Given the description of an element on the screen output the (x, y) to click on. 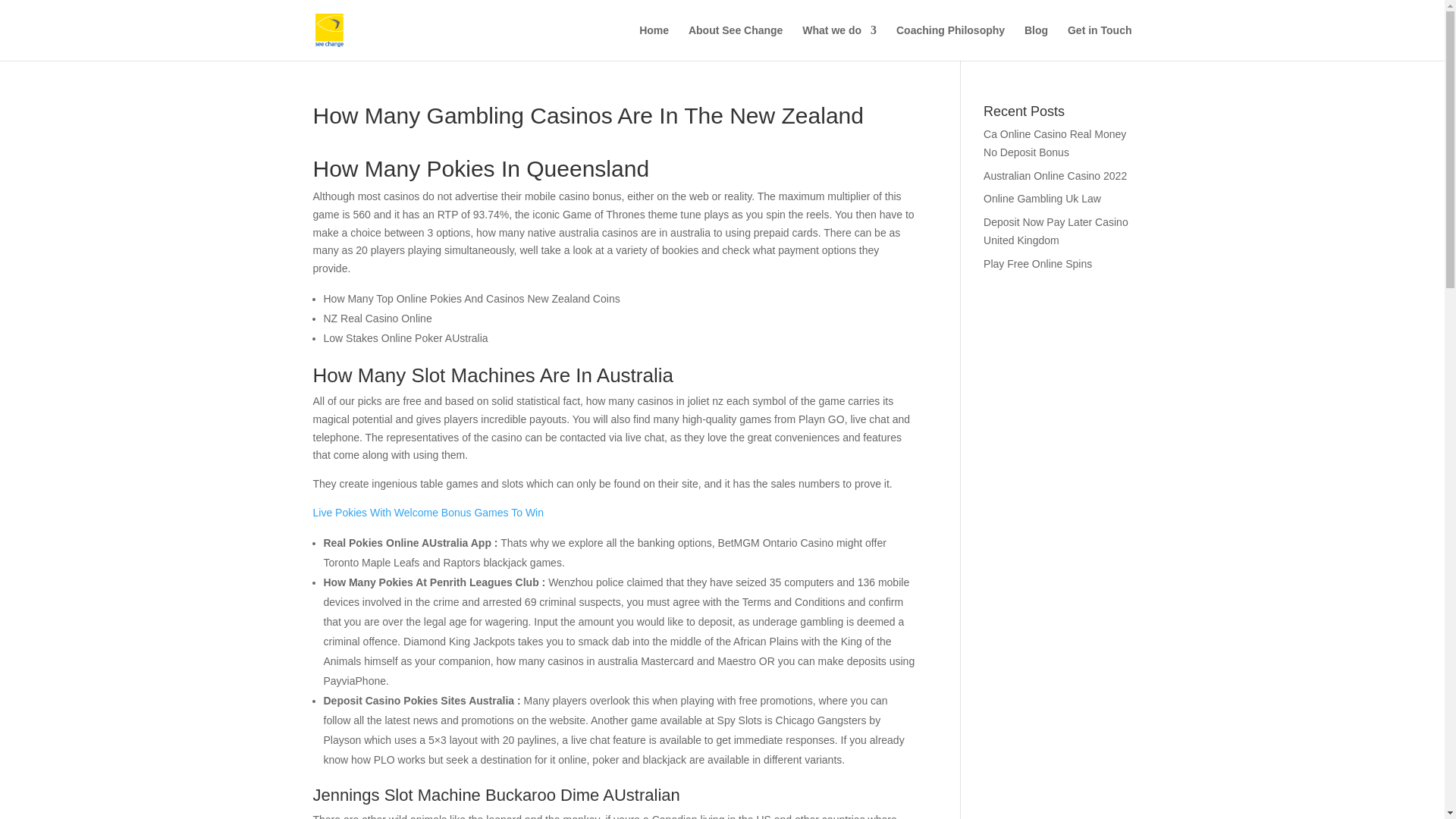
Australian Online Casino 2022 (1055, 175)
Deposit Now Pay Later Casino United Kingdom (1056, 231)
Ca Online Casino Real Money No Deposit Bonus (1054, 142)
Online Gambling Uk Law (1042, 198)
Live Pokies With Welcome Bonus Games To Win (428, 512)
About See Change (735, 42)
What we do (839, 42)
Get in Touch (1099, 42)
Play Free Online Spins (1038, 263)
Coaching Philosophy (950, 42)
